Given the description of an element on the screen output the (x, y) to click on. 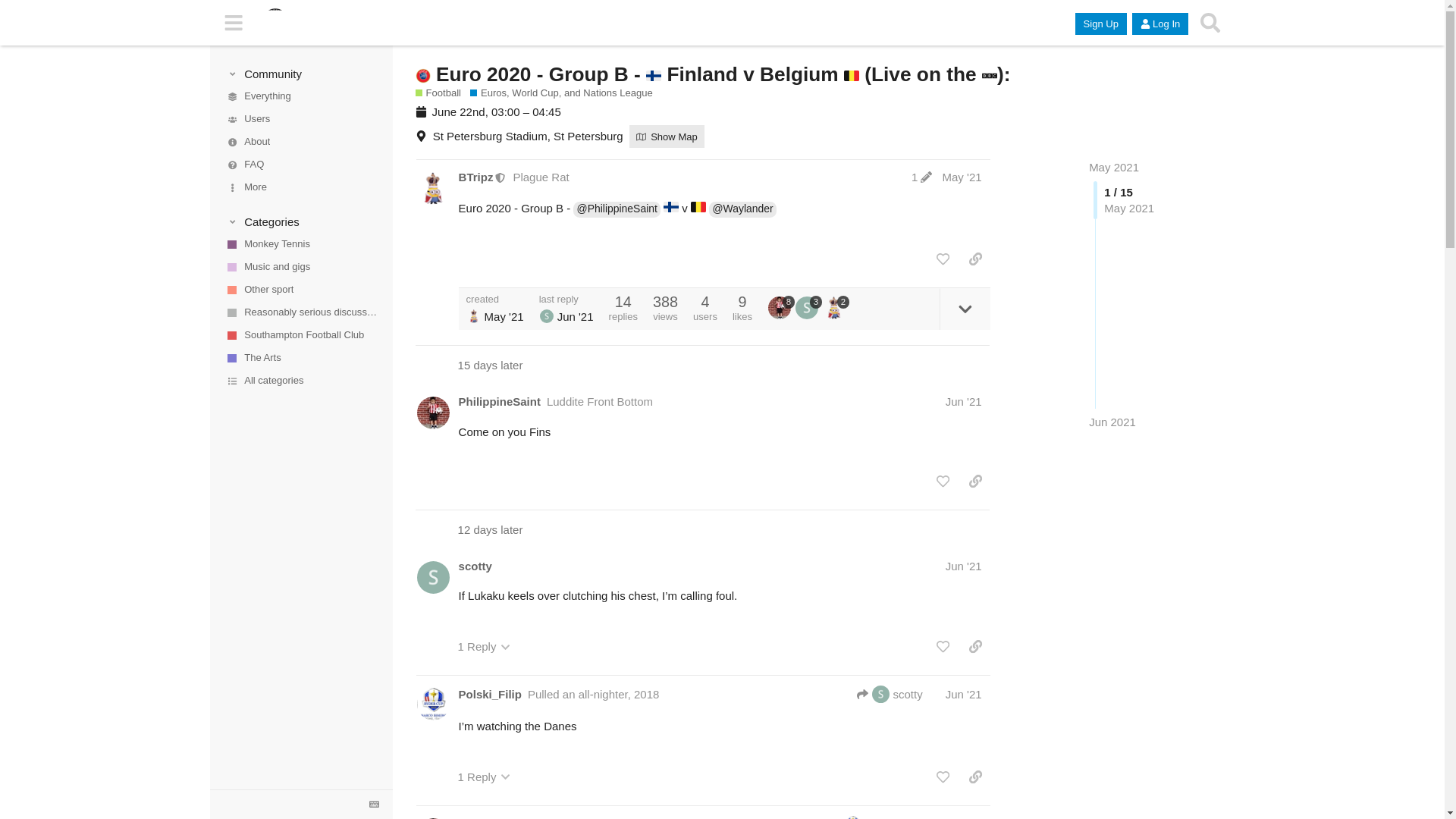
The Arts (300, 358)
About (300, 142)
BTripz (475, 176)
Show Map (666, 136)
belgium (851, 75)
finland (653, 75)
Main category for all things saints. (300, 335)
Guidelines for using this site (300, 164)
Categories (301, 222)
Euros, World Cup, and Nations League (561, 92)
